Given the description of an element on the screen output the (x, y) to click on. 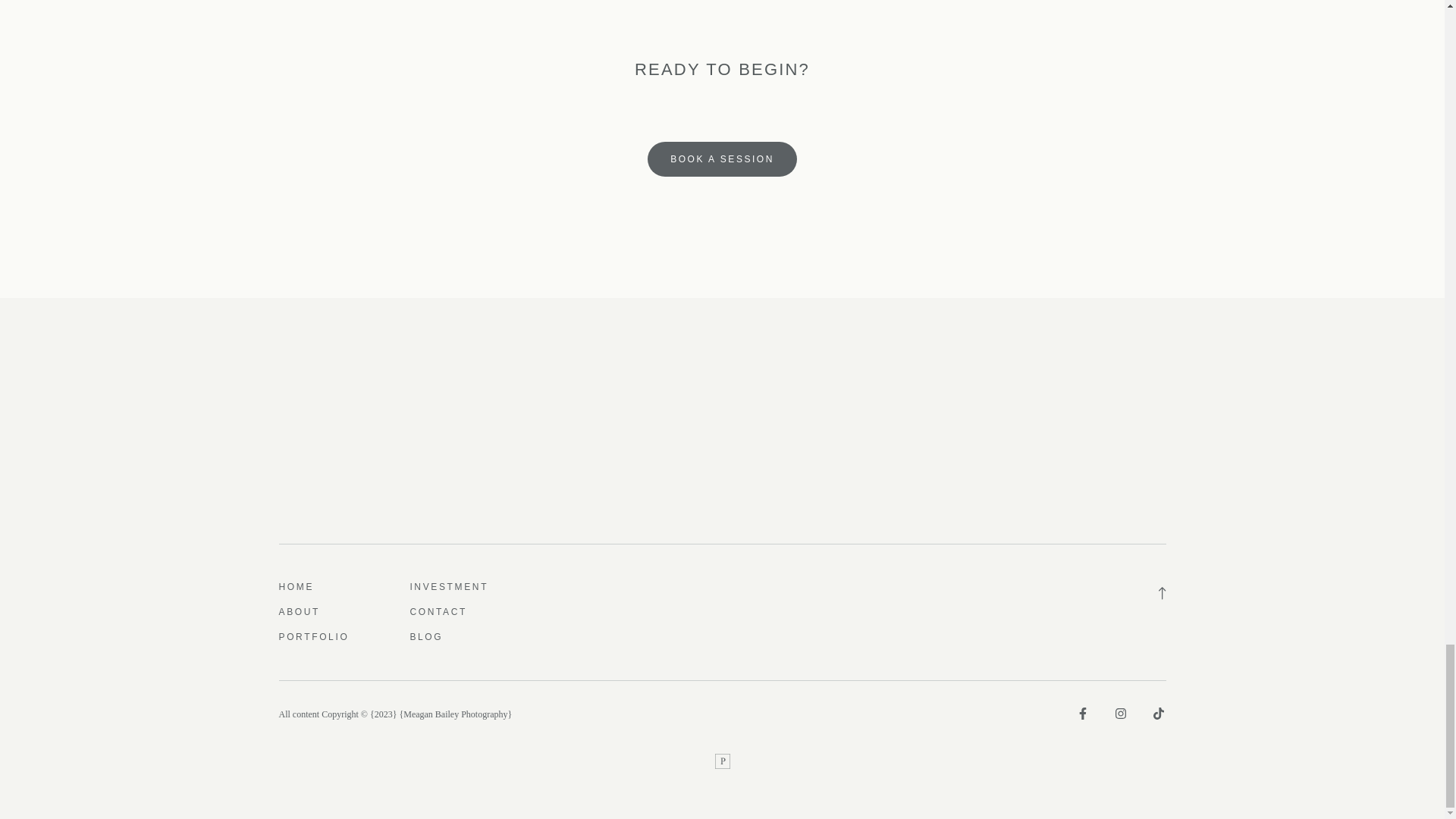
HOME (296, 586)
ABOUT (299, 611)
PORTFOLIO (314, 637)
BOOK A SESSION (721, 158)
